Given the description of an element on the screen output the (x, y) to click on. 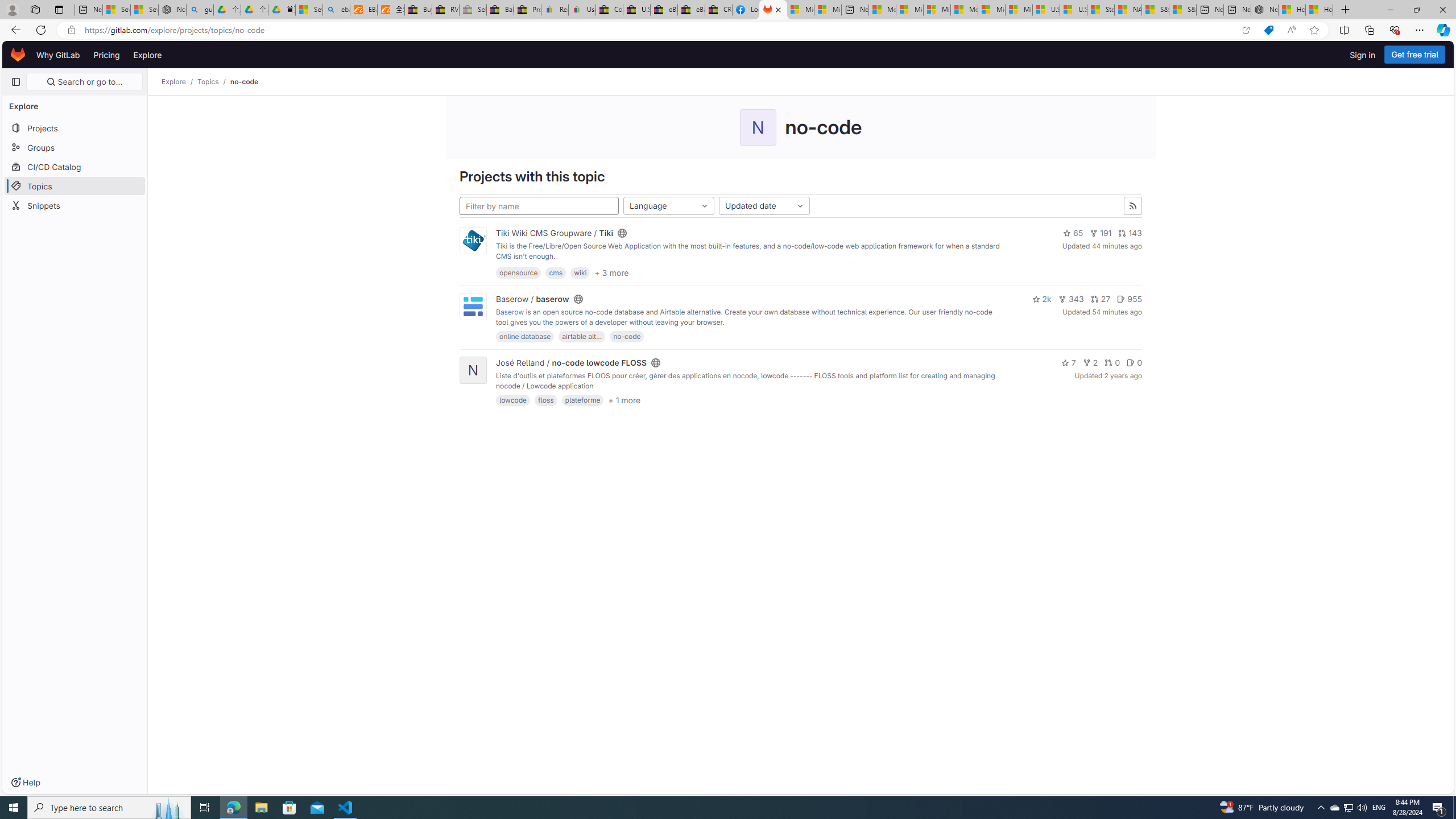
wiki (579, 272)
CI/CD Catalog (74, 166)
Get free trial (1414, 54)
cms (556, 272)
2k (1041, 299)
343 (1071, 299)
Open in app (1245, 29)
eBay Inc. Reports Third Quarter 2023 Results (691, 9)
